Given the description of an element on the screen output the (x, y) to click on. 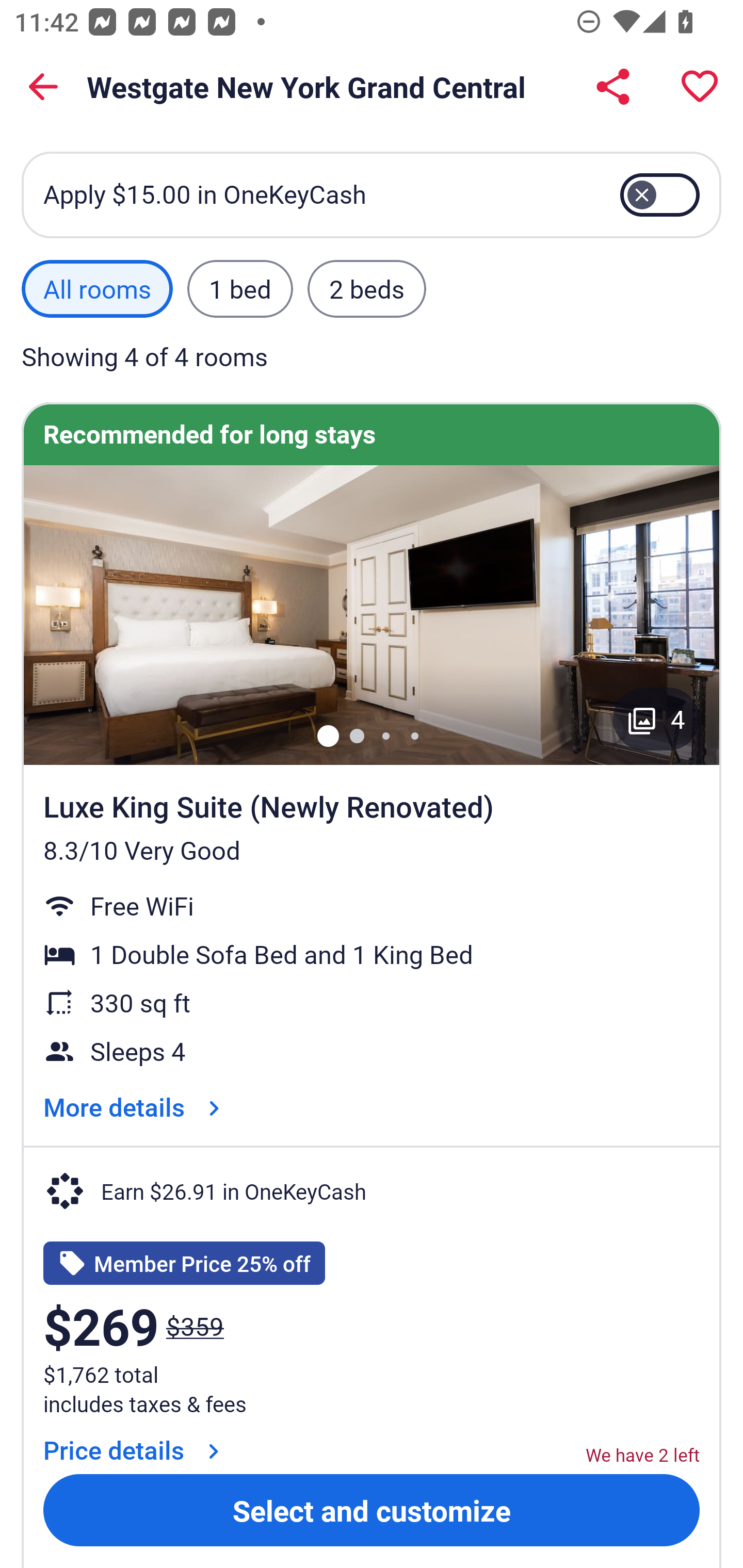
Back (43, 86)
Save property to a trip (699, 86)
Share Westgate New York Grand Central (612, 87)
All rooms (97, 289)
1 bed (239, 289)
2 beds (366, 289)
Gallery button with 4 images (655, 718)
$359 The price was $359 (194, 1325)
